Given the description of an element on the screen output the (x, y) to click on. 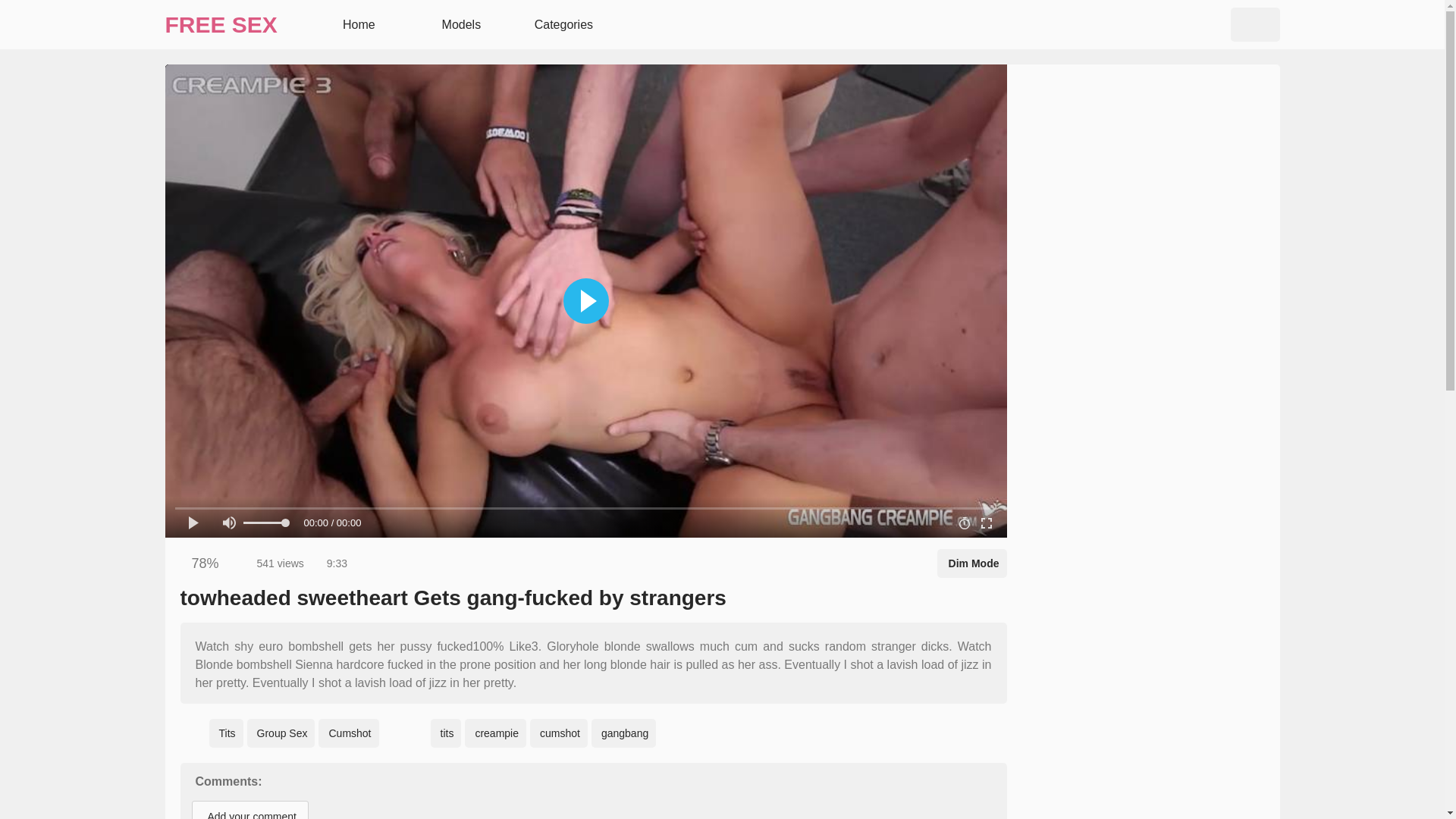
Models (459, 24)
Cumshot (348, 733)
cumshot (558, 733)
FREE SEX (221, 24)
creampie (494, 733)
Group Sex (281, 733)
Categories (561, 24)
Home (356, 24)
tits (445, 733)
Models (459, 24)
Enable Dim Mode (972, 563)
Categories (561, 24)
Tits (226, 733)
Home (356, 24)
gangbang (623, 733)
